Given the description of an element on the screen output the (x, y) to click on. 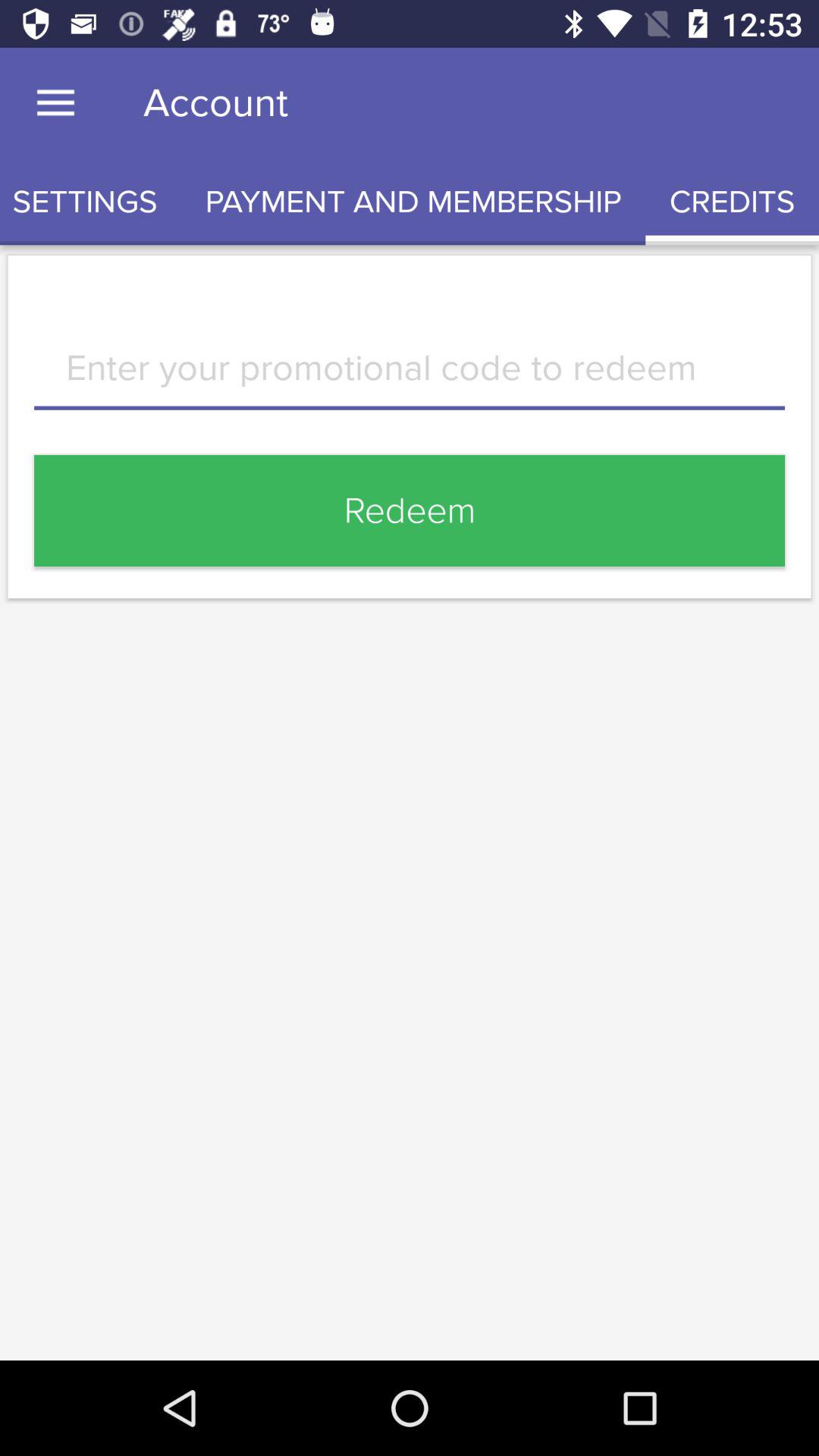
open the settings item (90, 202)
